Given the description of an element on the screen output the (x, y) to click on. 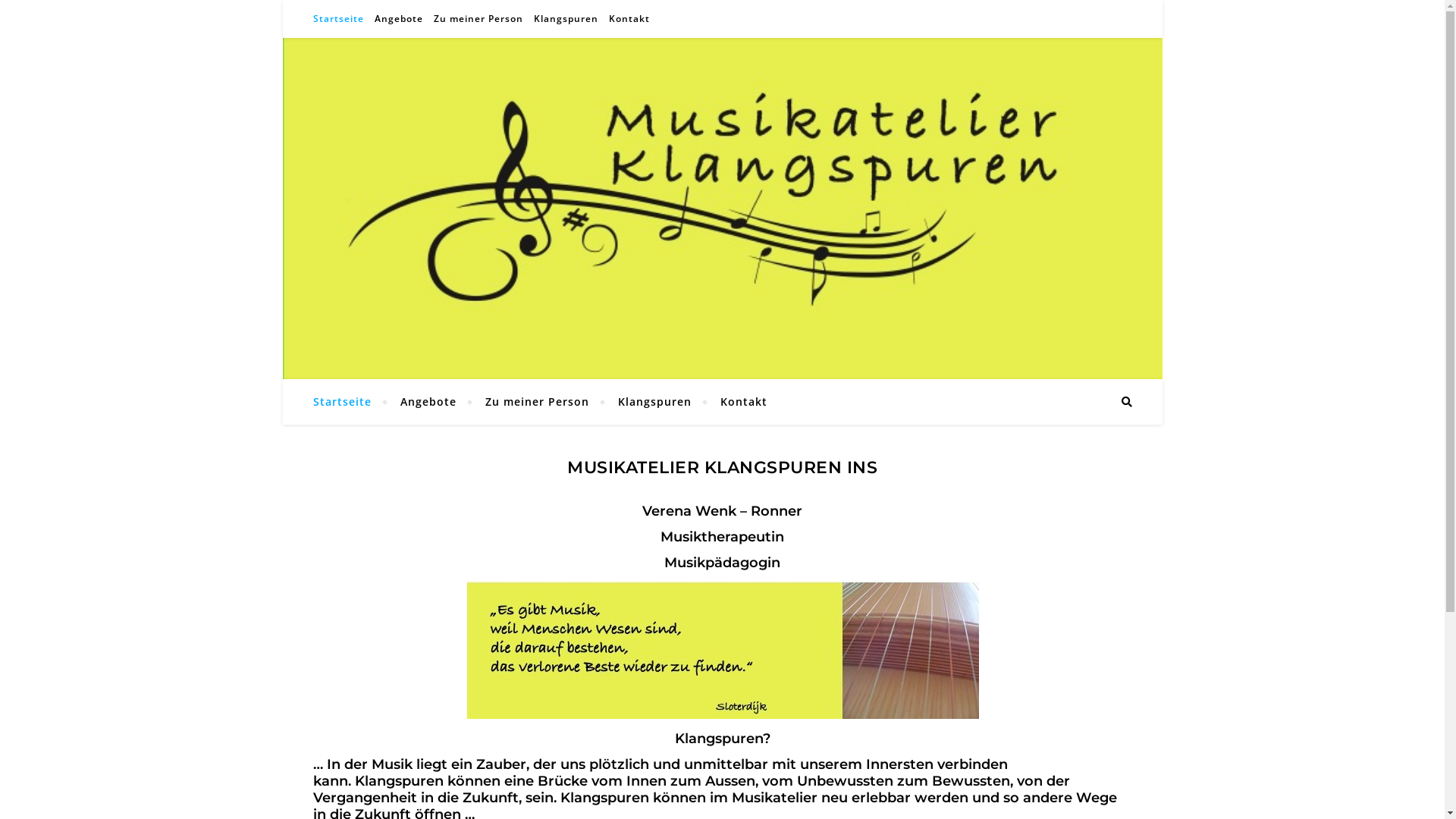
Angebote Element type: text (427, 401)
Klangspuren Element type: text (565, 18)
Startseite Element type: text (347, 401)
Klangspuren Element type: text (654, 401)
Kontakt Element type: text (627, 18)
Angebote Element type: text (398, 18)
Startseite Element type: text (339, 18)
Zu meiner Person Element type: text (477, 18)
Kontakt Element type: text (736, 401)
Zu meiner Person Element type: text (536, 401)
